Given the description of an element on the screen output the (x, y) to click on. 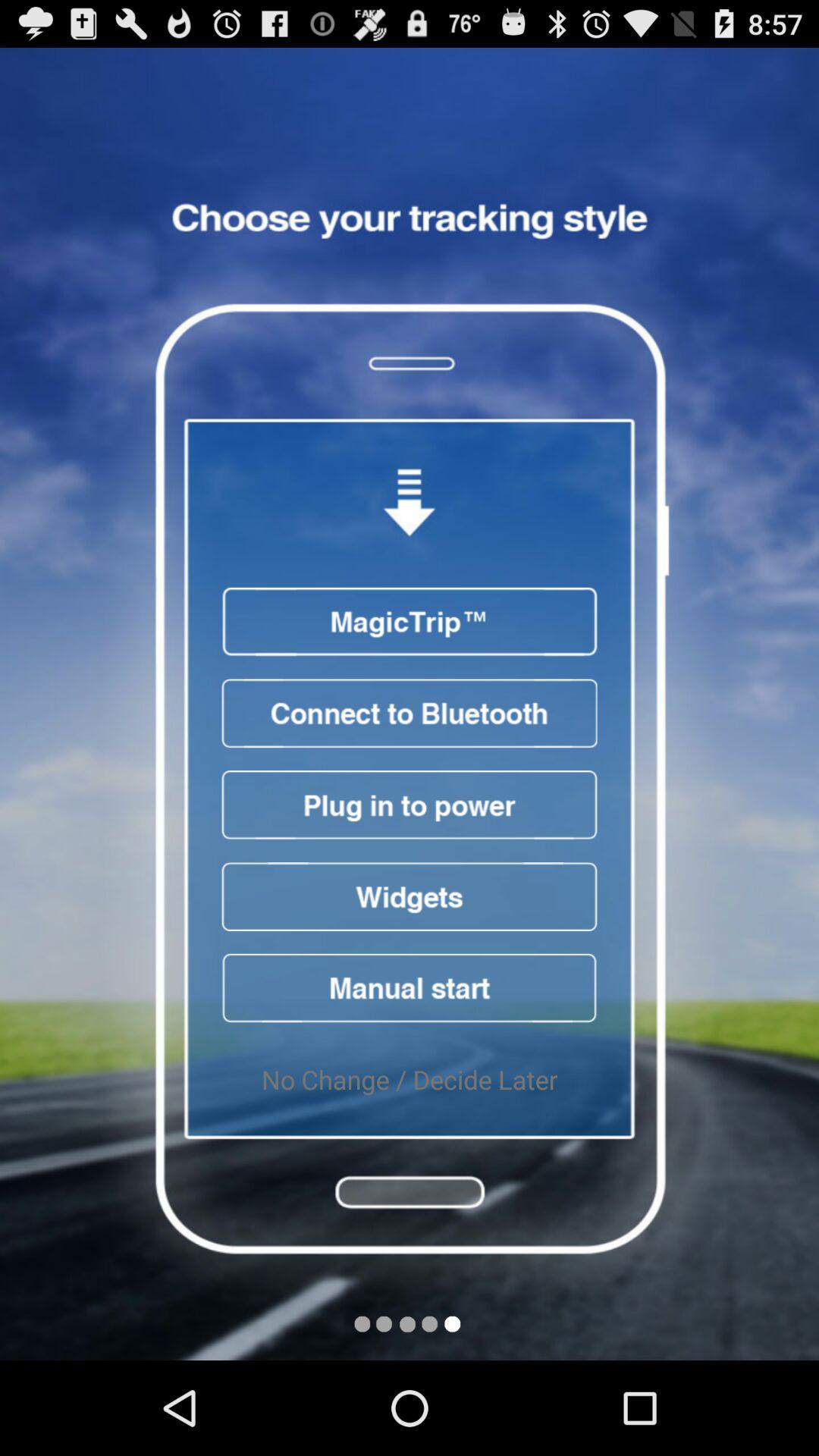
start button (409, 987)
